Given the description of an element on the screen output the (x, y) to click on. 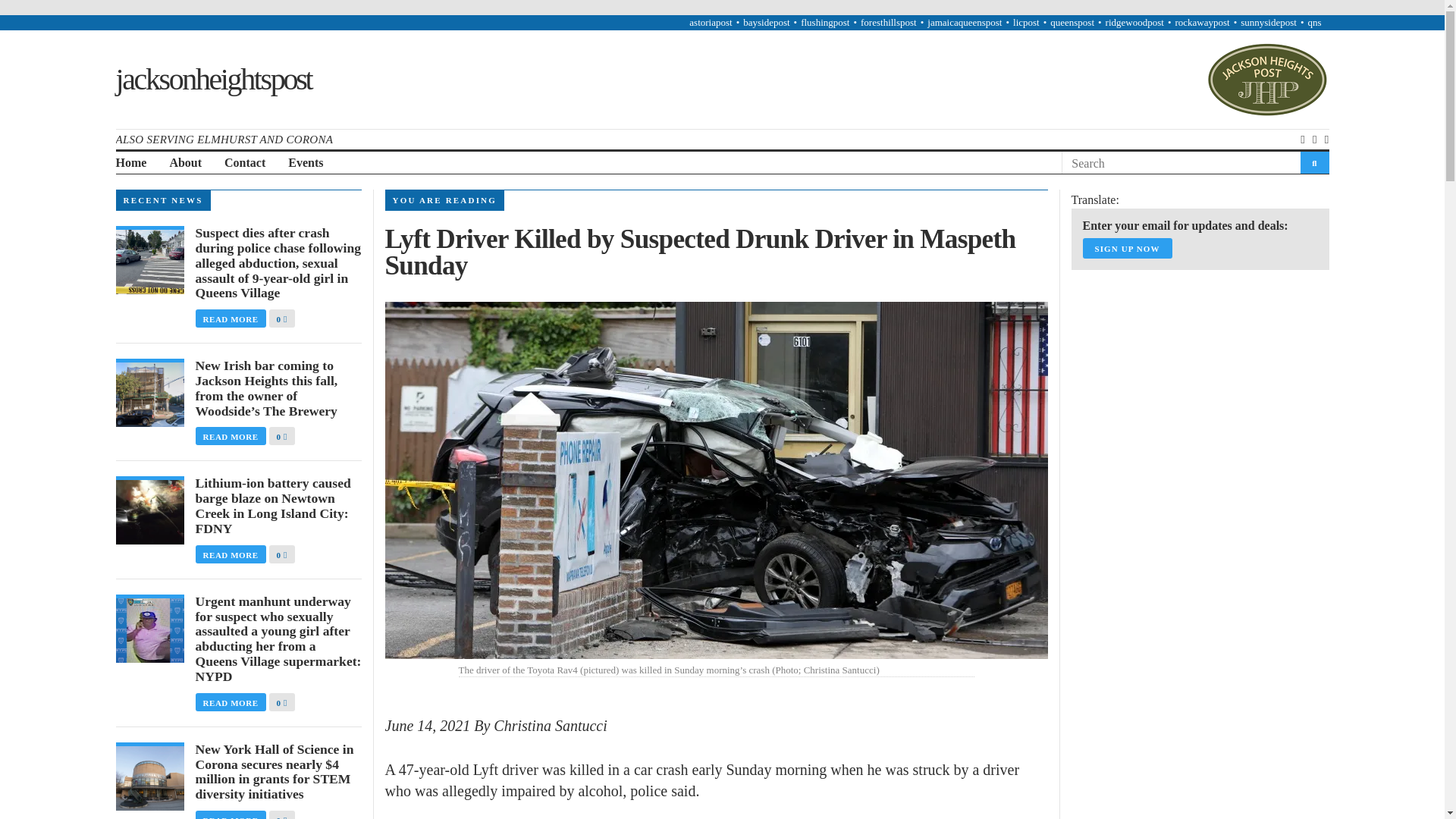
astoriapost (710, 21)
qns (1313, 21)
flushingpost (824, 21)
About (185, 163)
baysidepost (765, 21)
foresthillspost (888, 21)
Contact (244, 163)
sunnysidepost (1268, 21)
Events (305, 163)
queenspost (1071, 21)
